Given the description of an element on the screen output the (x, y) to click on. 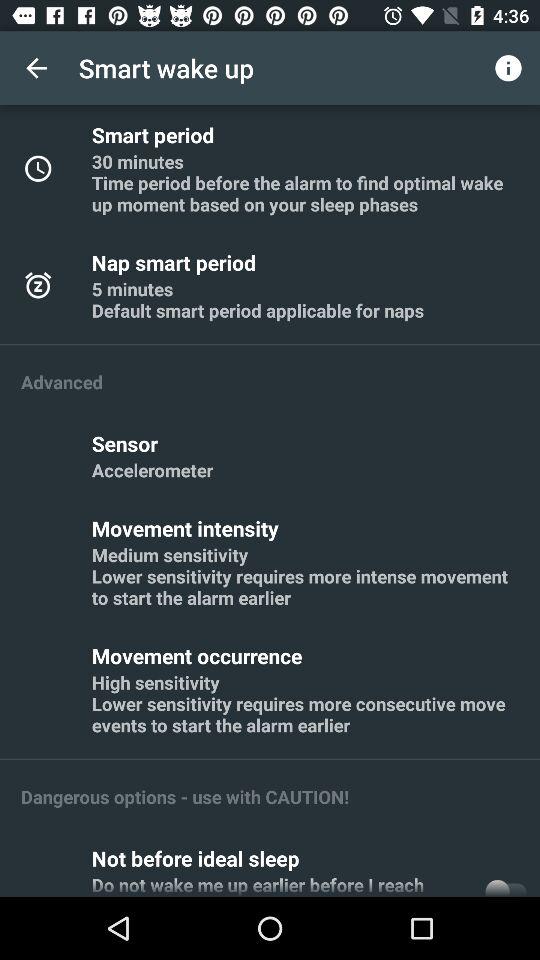
choose icon to the left of smart wake up icon (36, 68)
